Given the description of an element on the screen output the (x, y) to click on. 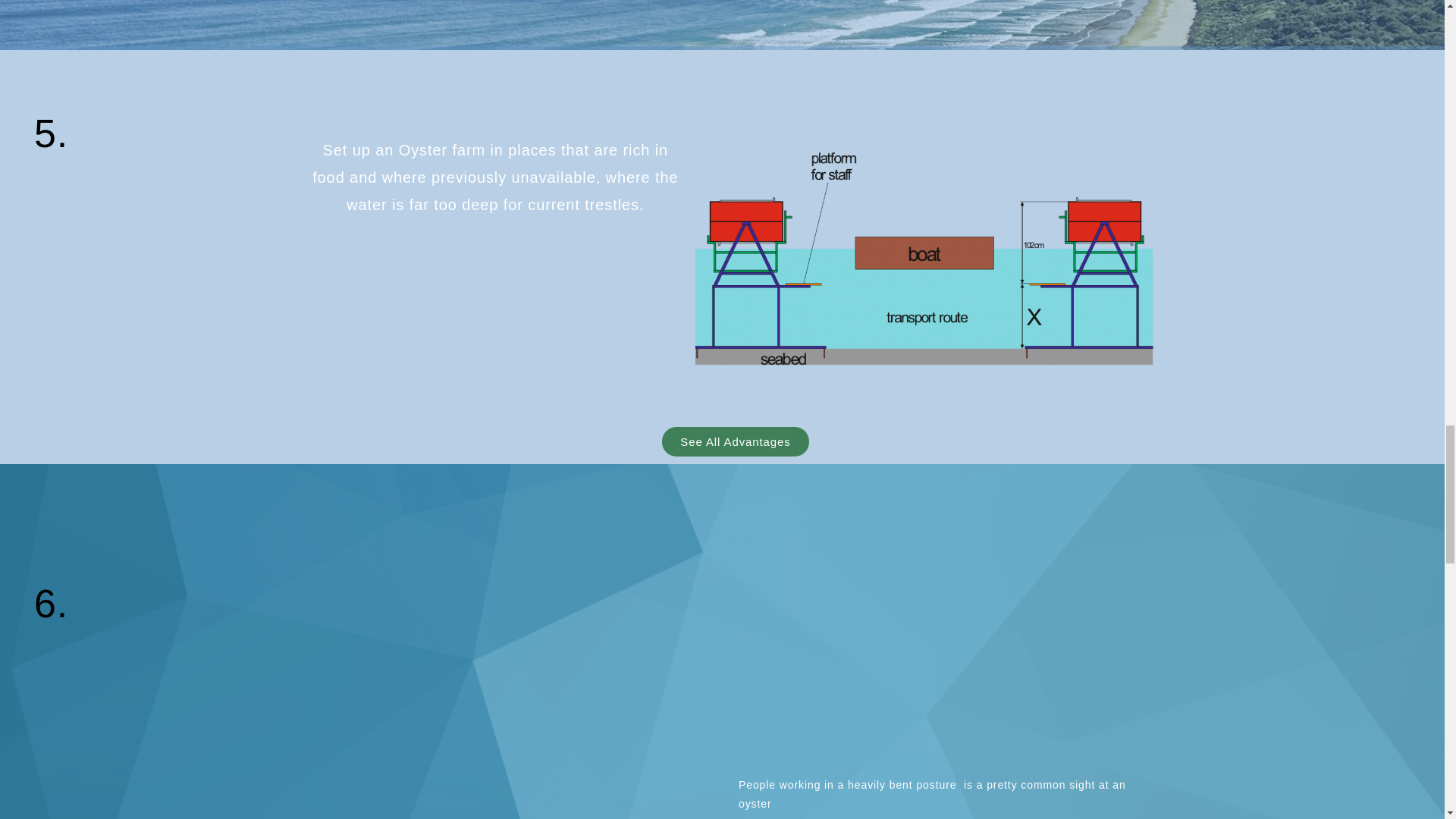
See All Advantages (735, 441)
